Given the description of an element on the screen output the (x, y) to click on. 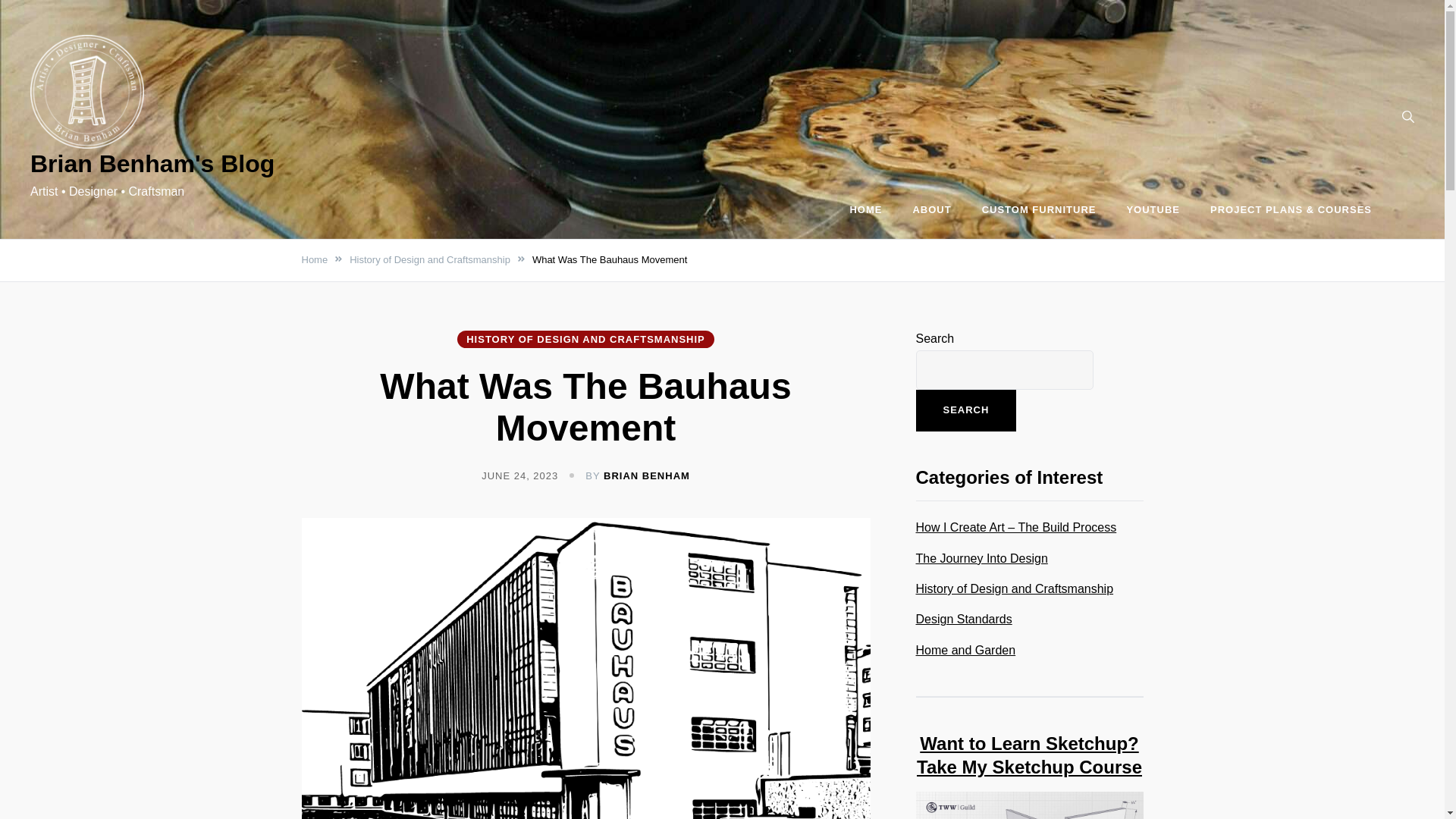
History of Design and Craftsmanship (430, 259)
How to resorces (1291, 210)
ABOUT (931, 210)
Brian Benham and how I got started building things (931, 210)
YOUTUBE (1152, 210)
Custom Furniture  (1039, 210)
JUNE 24, 2023 (519, 475)
BRIAN BENHAM (647, 475)
HISTORY OF DESIGN AND CRAFTSMANSHIP (585, 339)
Home (315, 259)
